Given the description of an element on the screen output the (x, y) to click on. 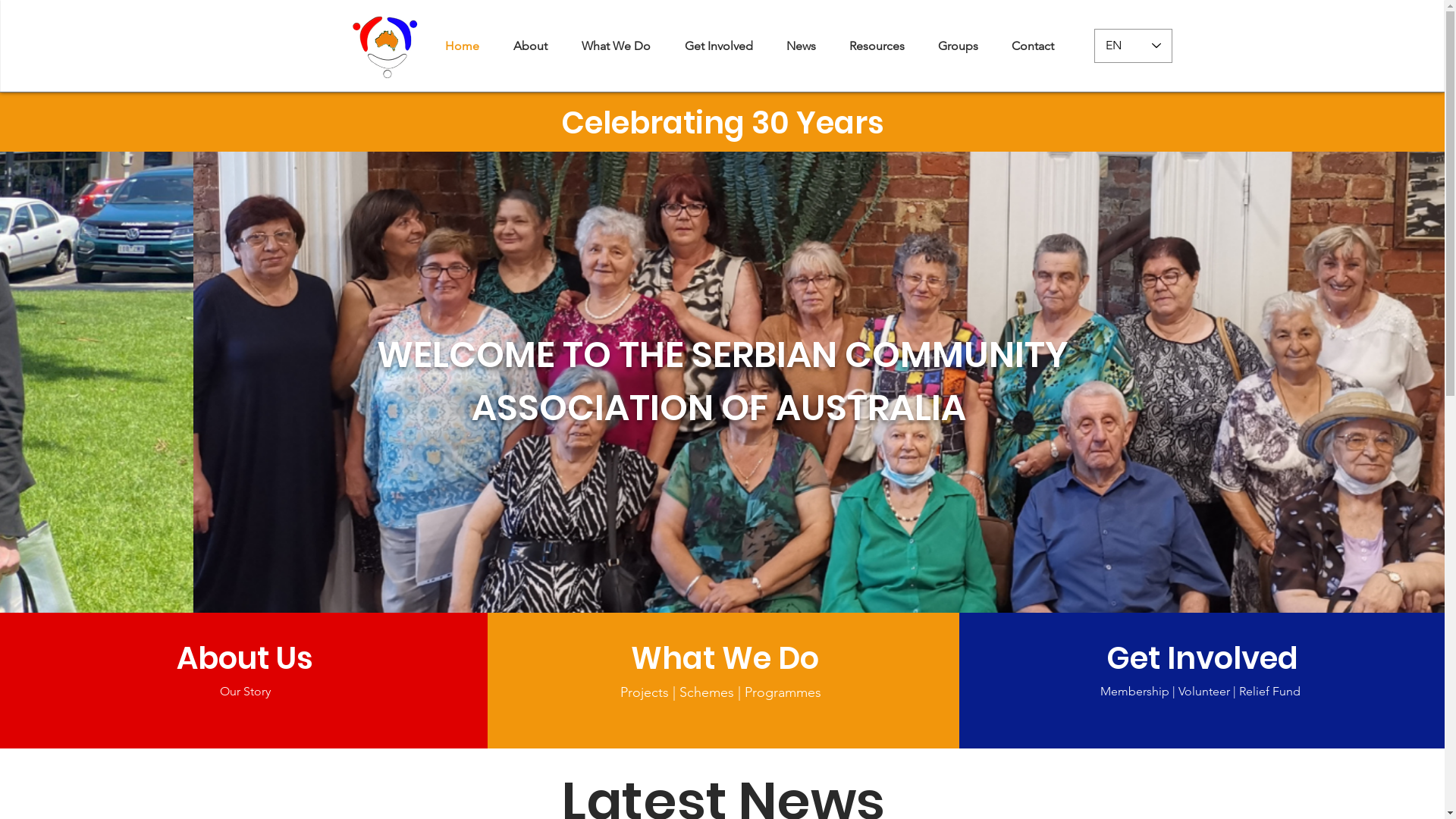
Get Involved  Element type: text (1205, 658)
Projects Element type: text (644, 692)
Contact Element type: text (1032, 45)
Home Element type: text (461, 45)
News Element type: text (799, 45)
What We Do Element type: text (724, 658)
Resources Element type: text (876, 45)
About Us Element type: text (244, 658)
Get Involved Element type: text (717, 45)
Our Story Element type: text (244, 691)
Membership Element type: text (1134, 691)
Programmes Element type: text (782, 692)
Schemes Element type: text (706, 692)
Relief Fund Element type: text (1269, 691)
Volunteer Element type: text (1204, 691)
